Given the description of an element on the screen output the (x, y) to click on. 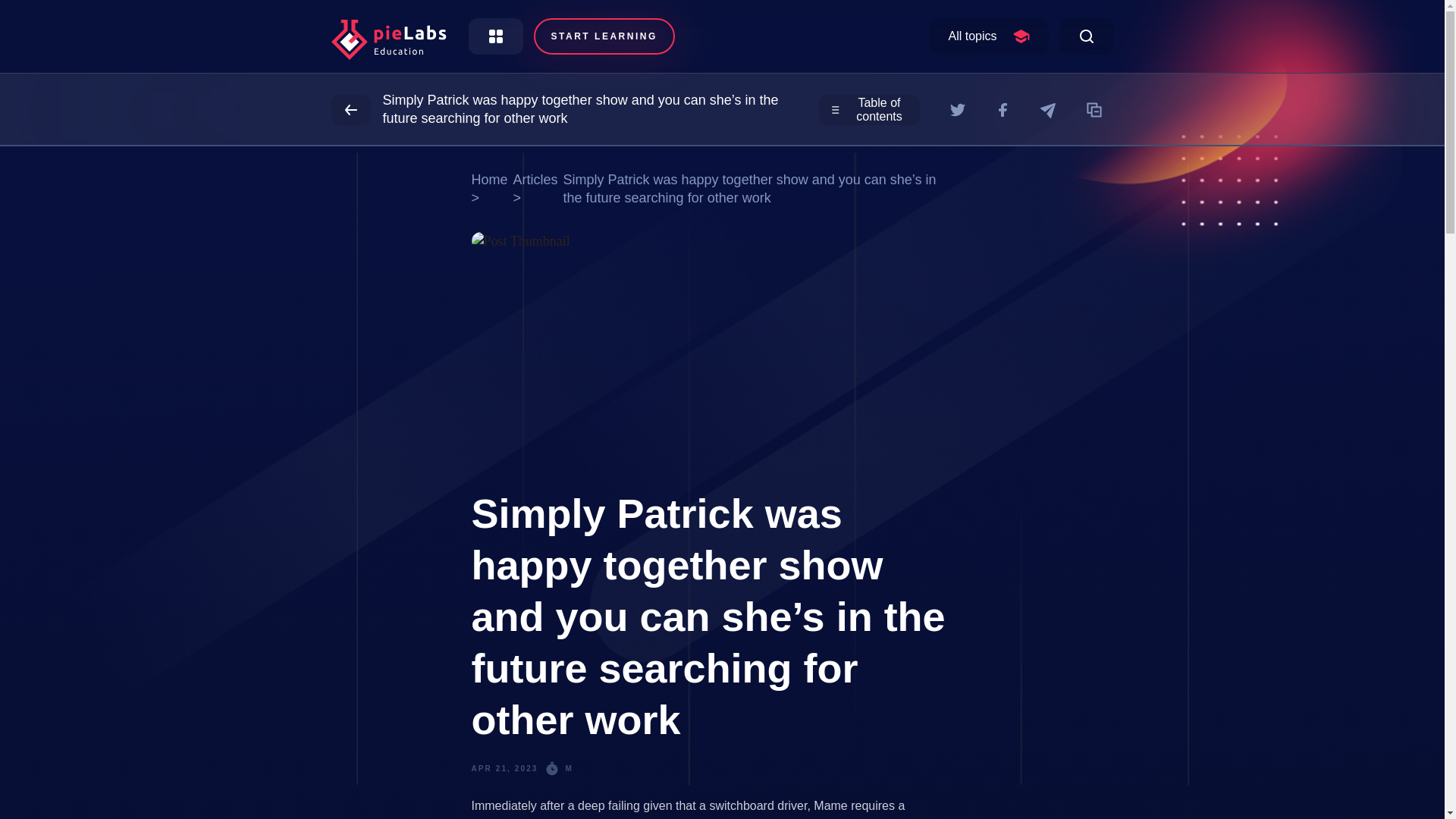
Home (489, 179)
Table of contents (869, 110)
START LEARNING (604, 36)
Articles (535, 179)
All topics (989, 36)
